Given the description of an element on the screen output the (x, y) to click on. 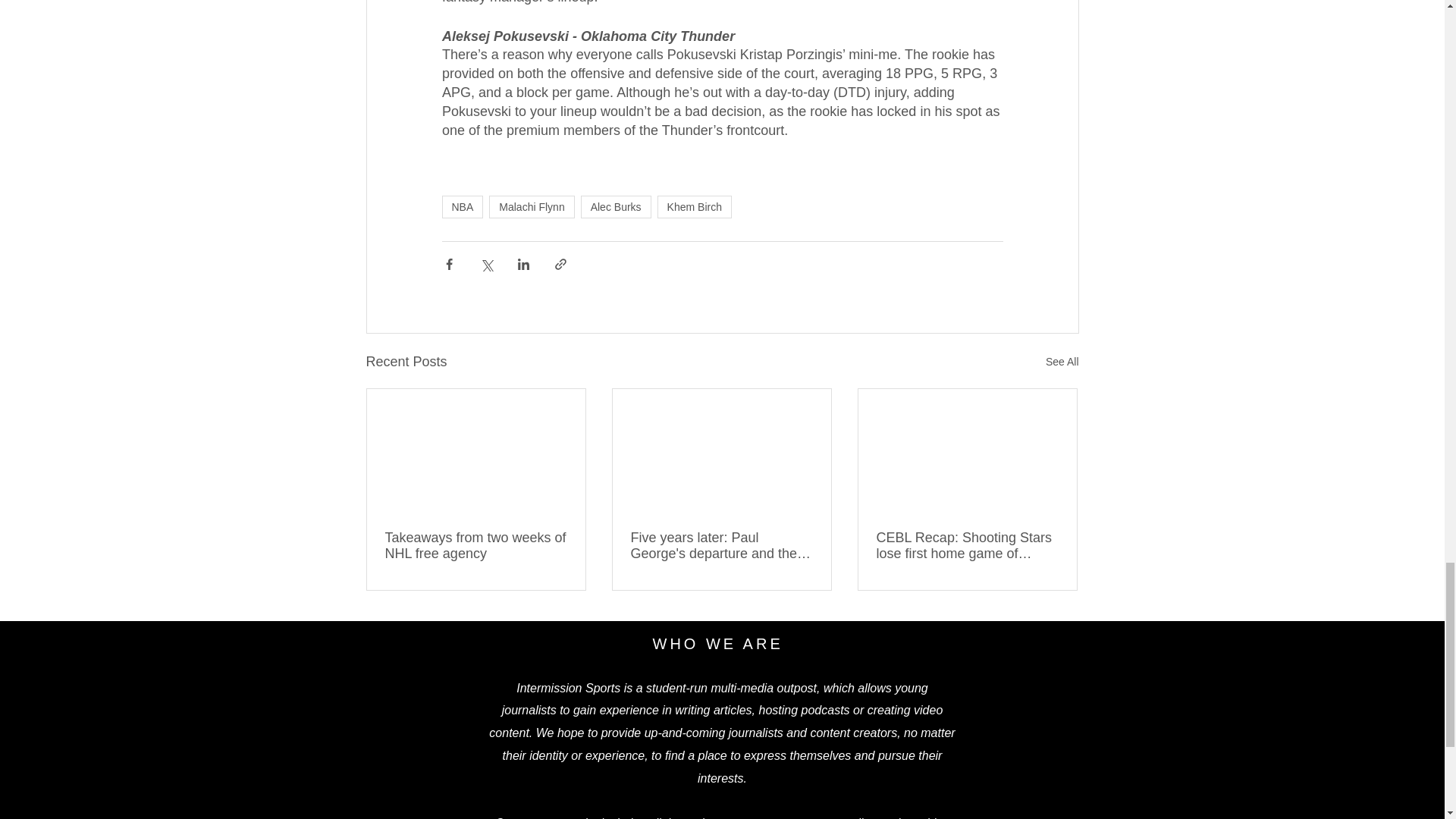
Khem Birch (695, 206)
Takeaways from two weeks of NHL free agency (476, 545)
NBA (462, 206)
Alec Burks (615, 206)
See All (1061, 362)
Malachi Flynn (531, 206)
